Given the description of an element on the screen output the (x, y) to click on. 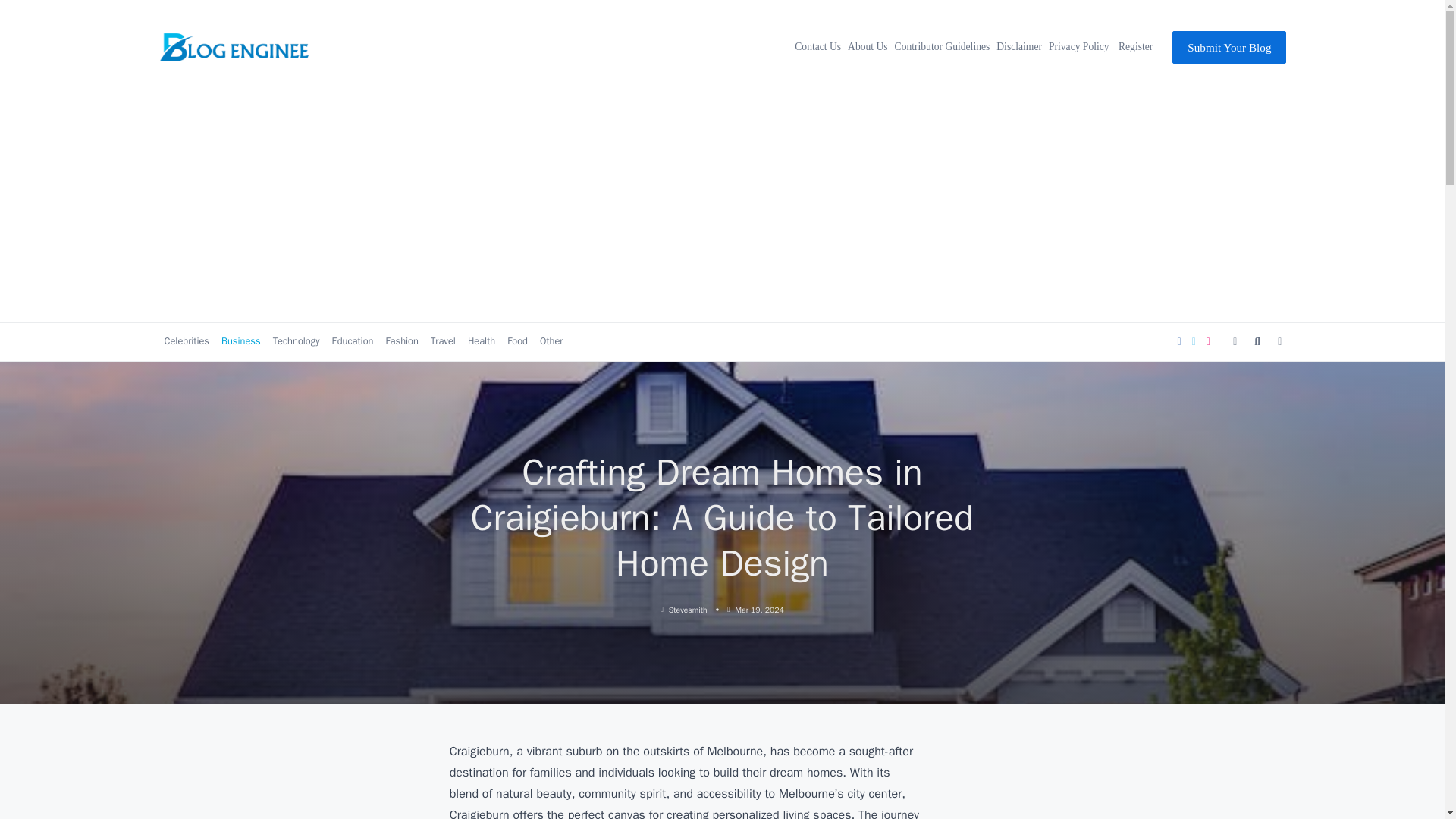
About Us (864, 47)
Celebrities (186, 341)
Submit Your Blog (1228, 47)
Contact Us (815, 47)
Contributor Guidelines (939, 47)
Privacy Policy  (1077, 47)
Disclaimer (1016, 47)
